Given the description of an element on the screen output the (x, y) to click on. 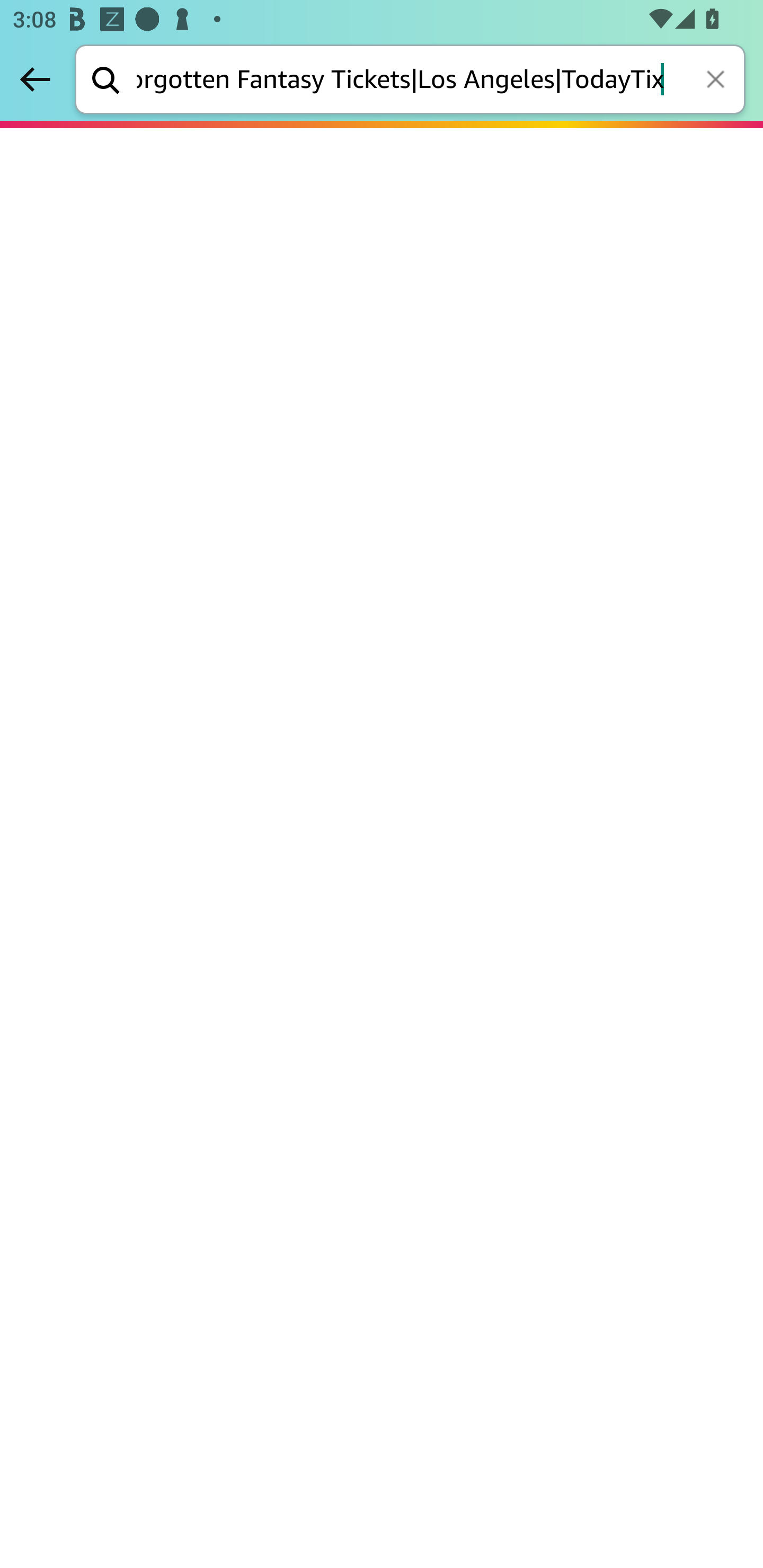
Clear search keywords (717, 80)
Back (35, 78)
